Given the description of an element on the screen output the (x, y) to click on. 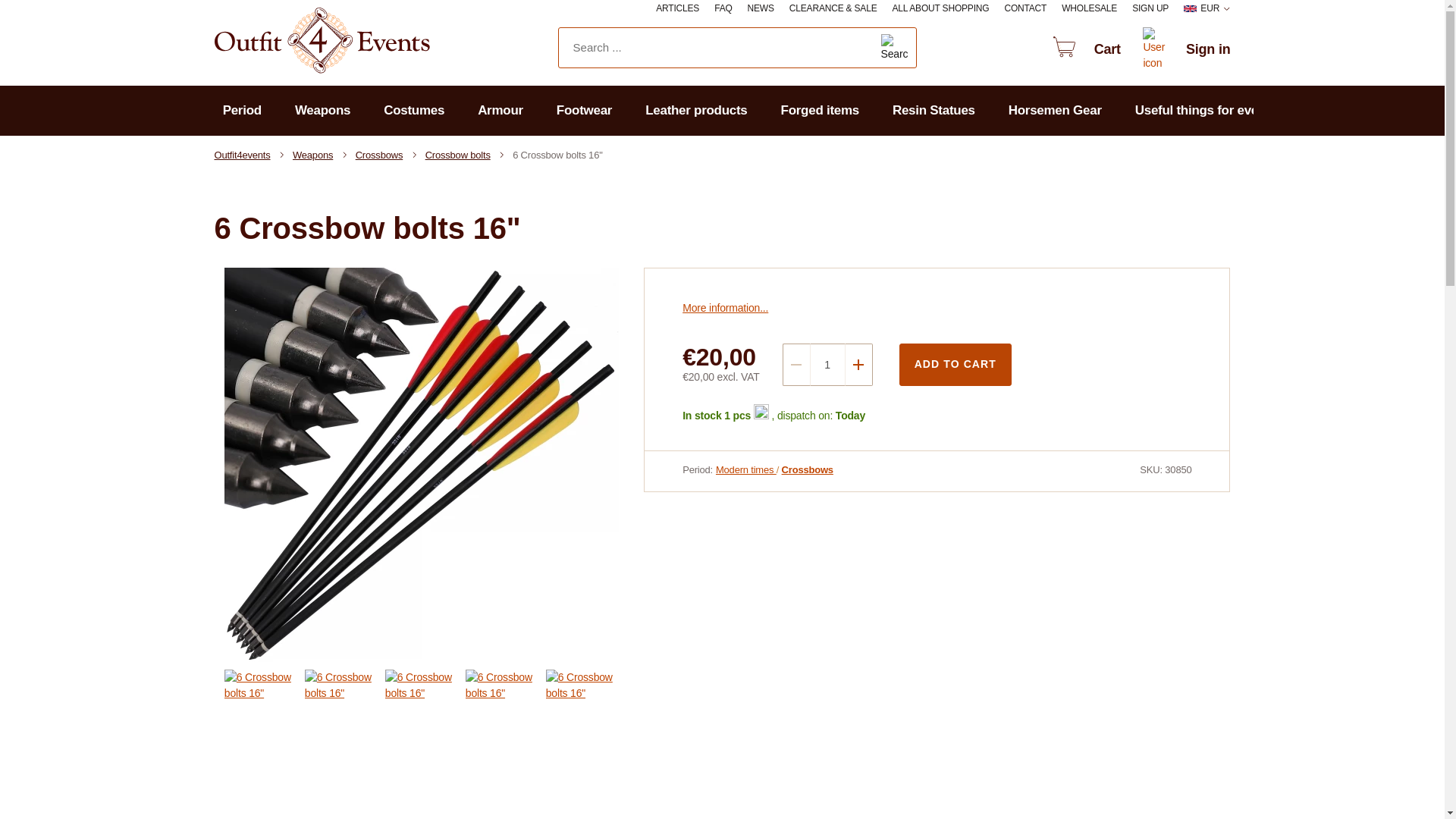
ALL ABOUT SHOPPING (939, 8)
EUR (1206, 8)
FAQ (723, 8)
Sign in (1182, 49)
More information... (725, 307)
ARTICLES (677, 8)
WHOLESALE (1088, 8)
NEWS (761, 8)
Cart (1082, 49)
SIGN UP (1150, 8)
